Given the description of an element on the screen output the (x, y) to click on. 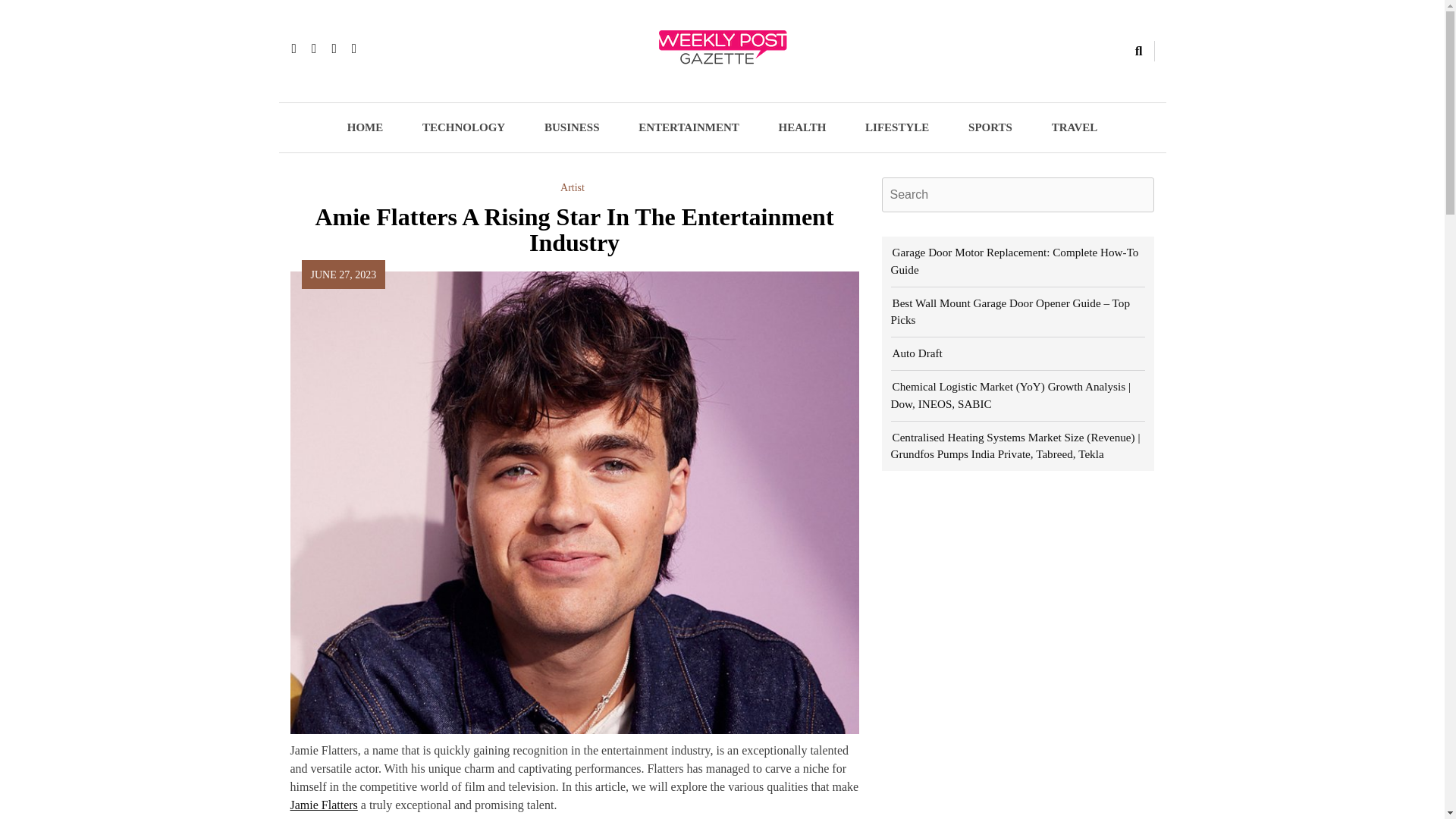
Artist (572, 187)
HEALTH (802, 127)
HOME (365, 127)
Weekly Post Gazette (549, 90)
Garage Door Motor Replacement: Complete How-To Guide (1013, 260)
TRAVEL (1074, 127)
BUSINESS (571, 127)
SPORTS (990, 127)
LIFESTYLE (897, 127)
TECHNOLOGY (463, 127)
ENTERTAINMENT (688, 127)
JUNE 27, 2023 (344, 273)
Auto Draft (915, 352)
Jamie Flatters (322, 804)
